Given the description of an element on the screen output the (x, y) to click on. 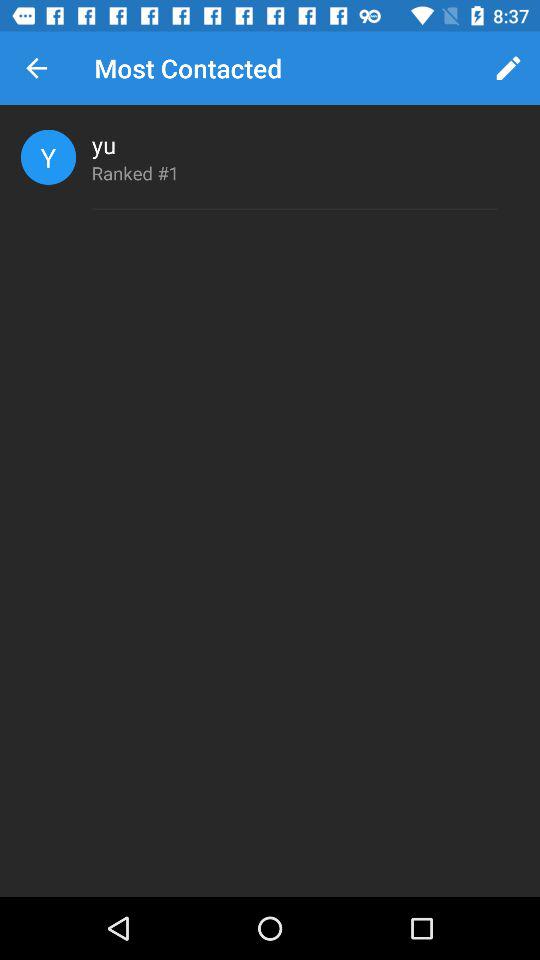
choose yu icon (103, 144)
